Given the description of an element on the screen output the (x, y) to click on. 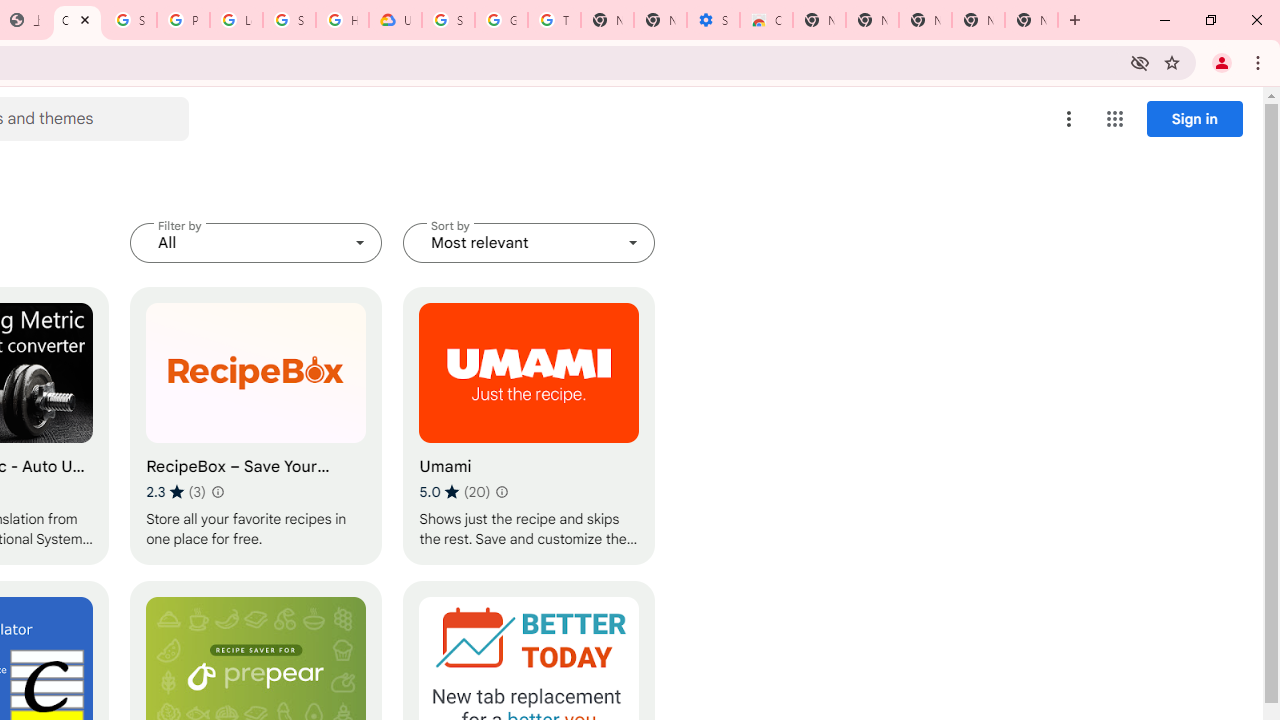
New Tab (1031, 20)
Settings - Accessibility (713, 20)
Google Account Help (501, 20)
Umami (529, 426)
New Tab (819, 20)
